Given the description of an element on the screen output the (x, y) to click on. 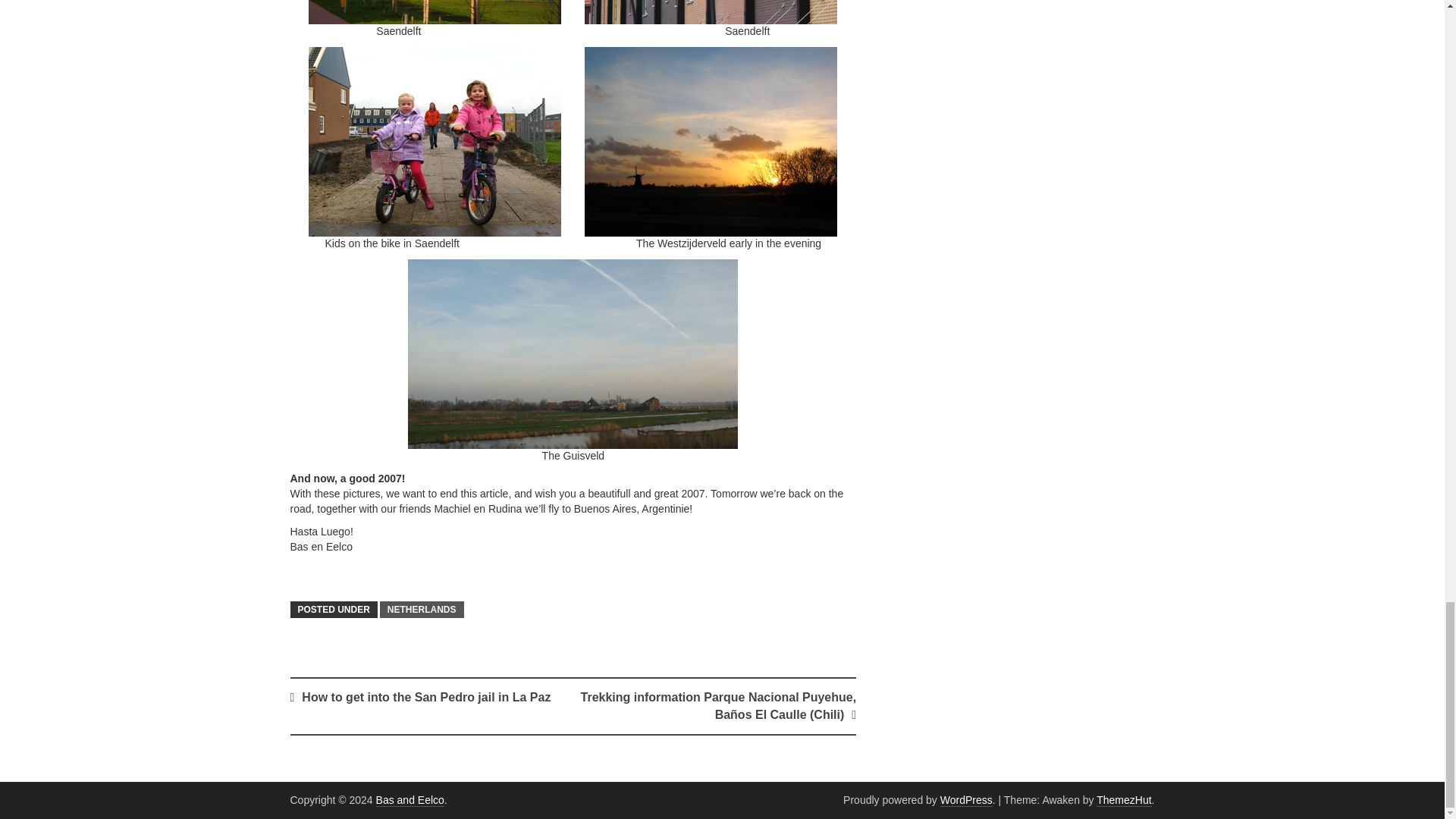
WordPress (966, 799)
How to get into the San Pedro jail in La Paz (425, 697)
Bas and Eelco (409, 799)
NETHERLANDS (422, 609)
